Given the description of an element on the screen output the (x, y) to click on. 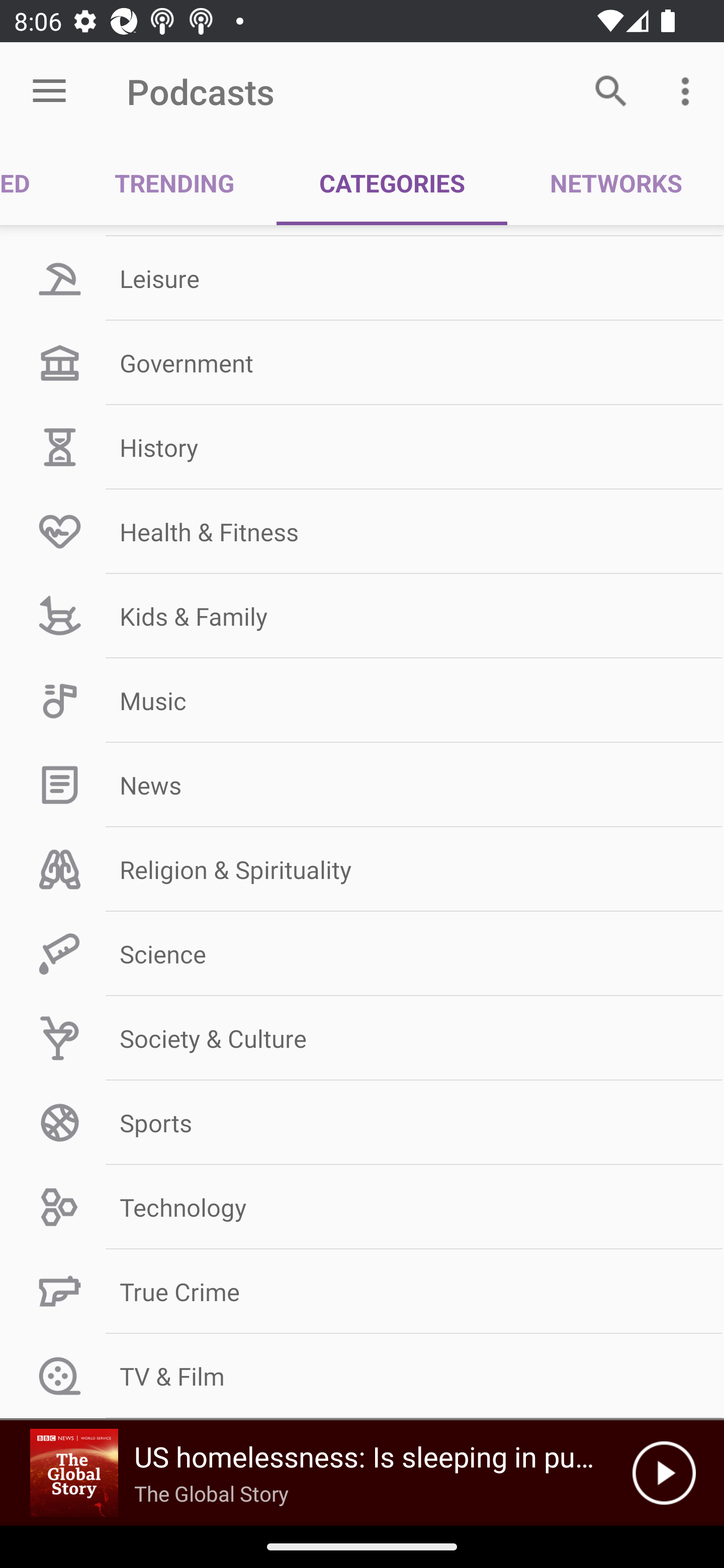
Open menu (49, 91)
Search (611, 90)
More options (688, 90)
TRENDING (174, 183)
CATEGORIES (391, 183)
NETWORKS (615, 183)
Leisure (362, 277)
Government (362, 361)
History (362, 446)
Health & Fitness (362, 531)
Kids & Family (362, 615)
Music (362, 700)
News (362, 785)
Religion & Spirituality (362, 869)
Science (362, 953)
Society & Culture (362, 1037)
Sports (362, 1122)
Technology (362, 1207)
True Crime (362, 1291)
TV & Film (362, 1375)
Play (663, 1472)
